Given the description of an element on the screen output the (x, y) to click on. 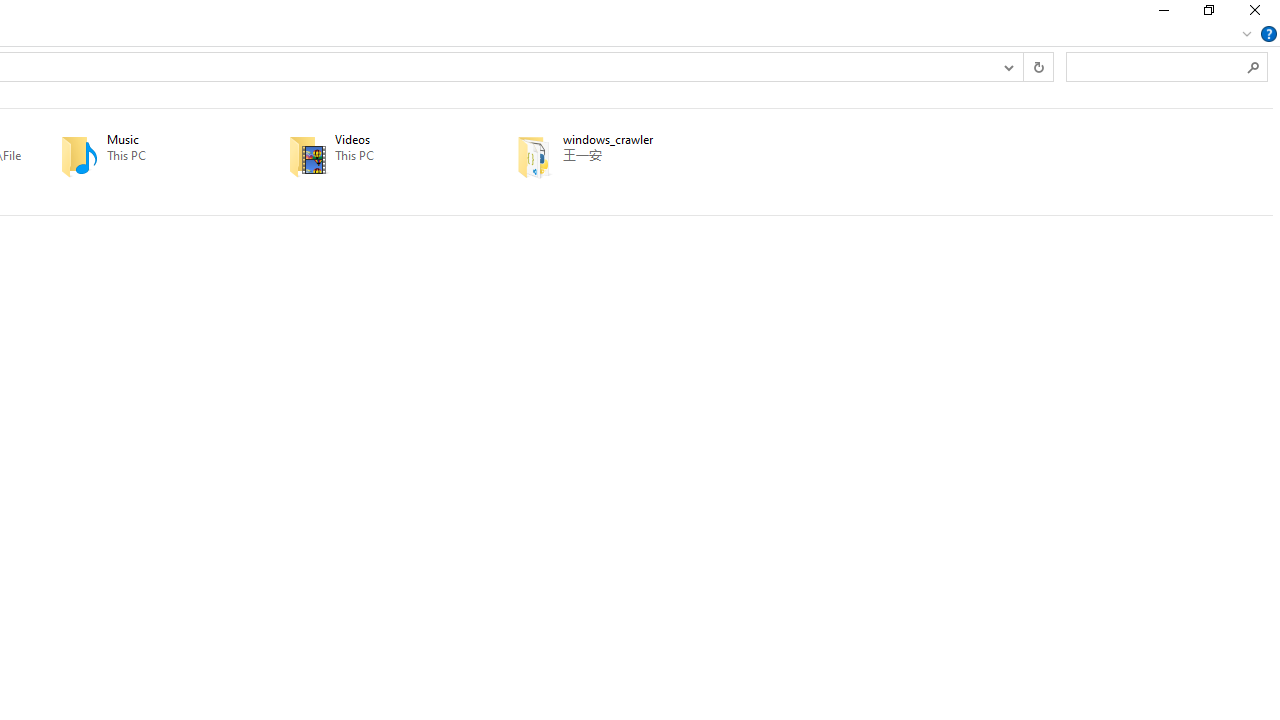
Address band toolbar (1023, 66)
Minimize (1162, 14)
Class: UIImage (534, 155)
Path (635, 155)
Help (1269, 33)
Restore (1208, 14)
Refresh "Quick access" (F5) (1037, 66)
Videos (374, 156)
Previous Locations (1007, 66)
Search Box (1156, 66)
Name (635, 139)
Music (146, 156)
windows_crawler (602, 156)
Minimize the Ribbon (1247, 33)
Search (1253, 66)
